Given the description of an element on the screen output the (x, y) to click on. 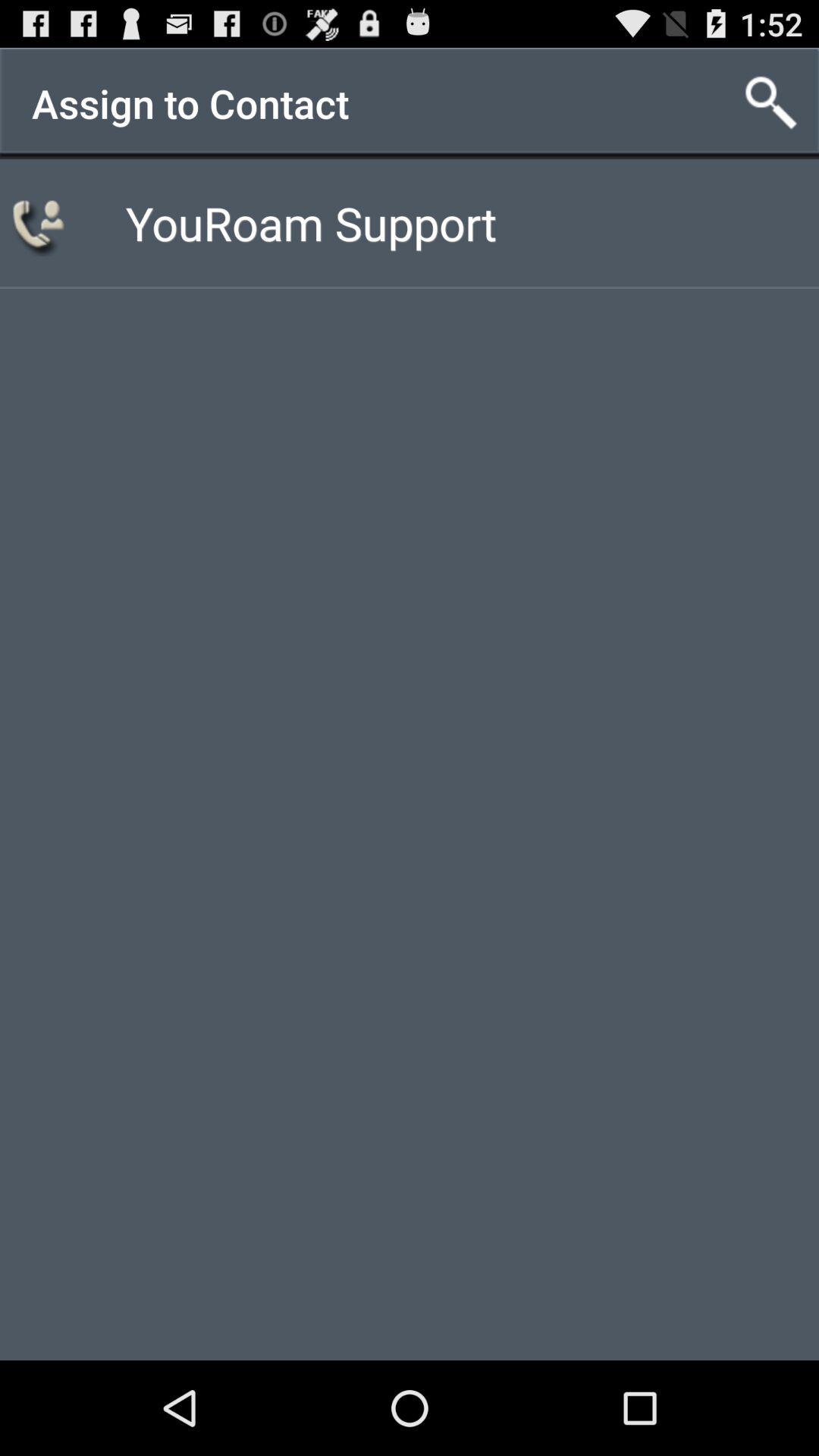
swipe until the youroam support icon (310, 222)
